Given the description of an element on the screen output the (x, y) to click on. 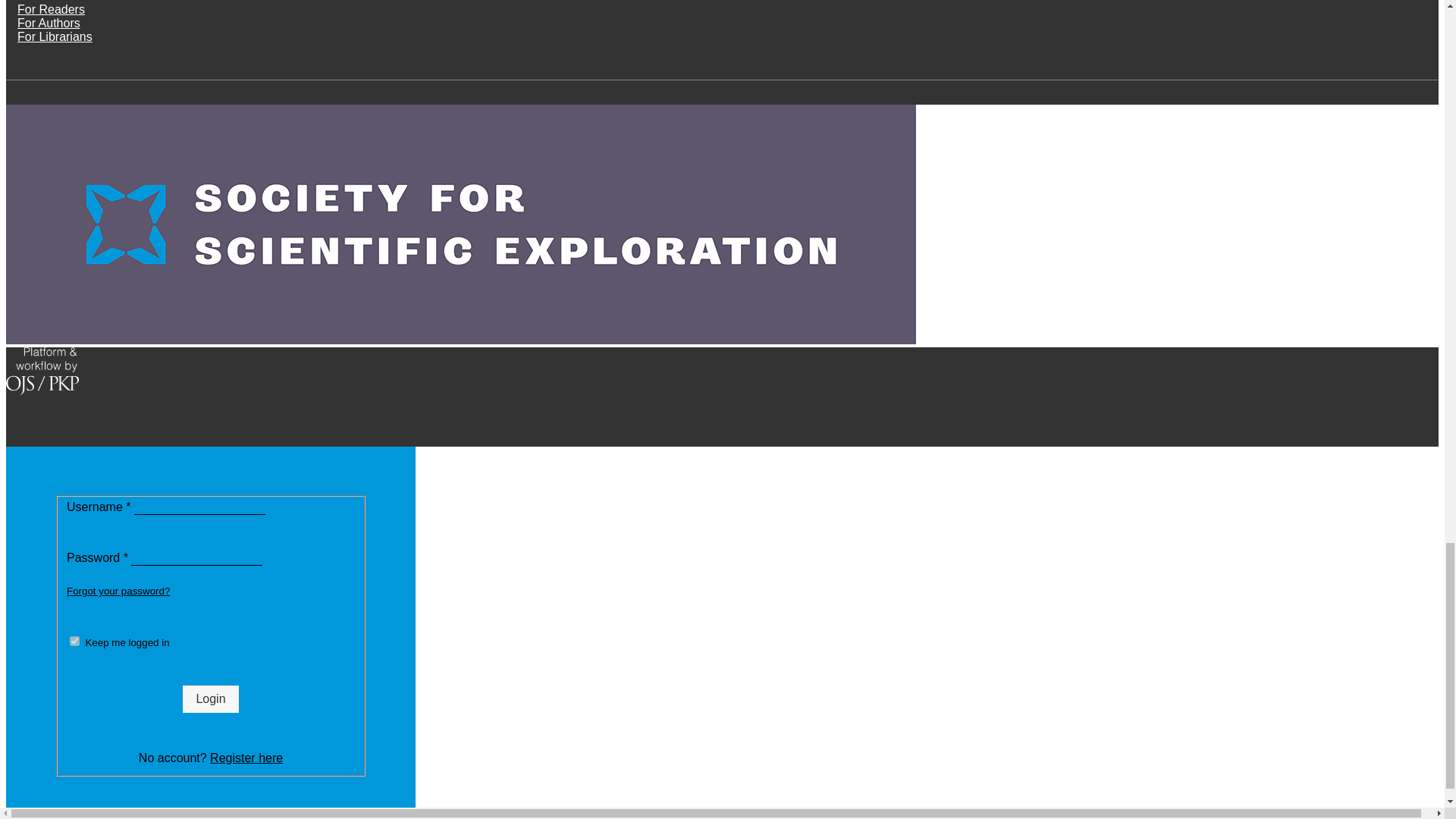
1 (74, 641)
For Readers (50, 9)
For Authors (48, 22)
For Librarians (55, 36)
